Given the description of an element on the screen output the (x, y) to click on. 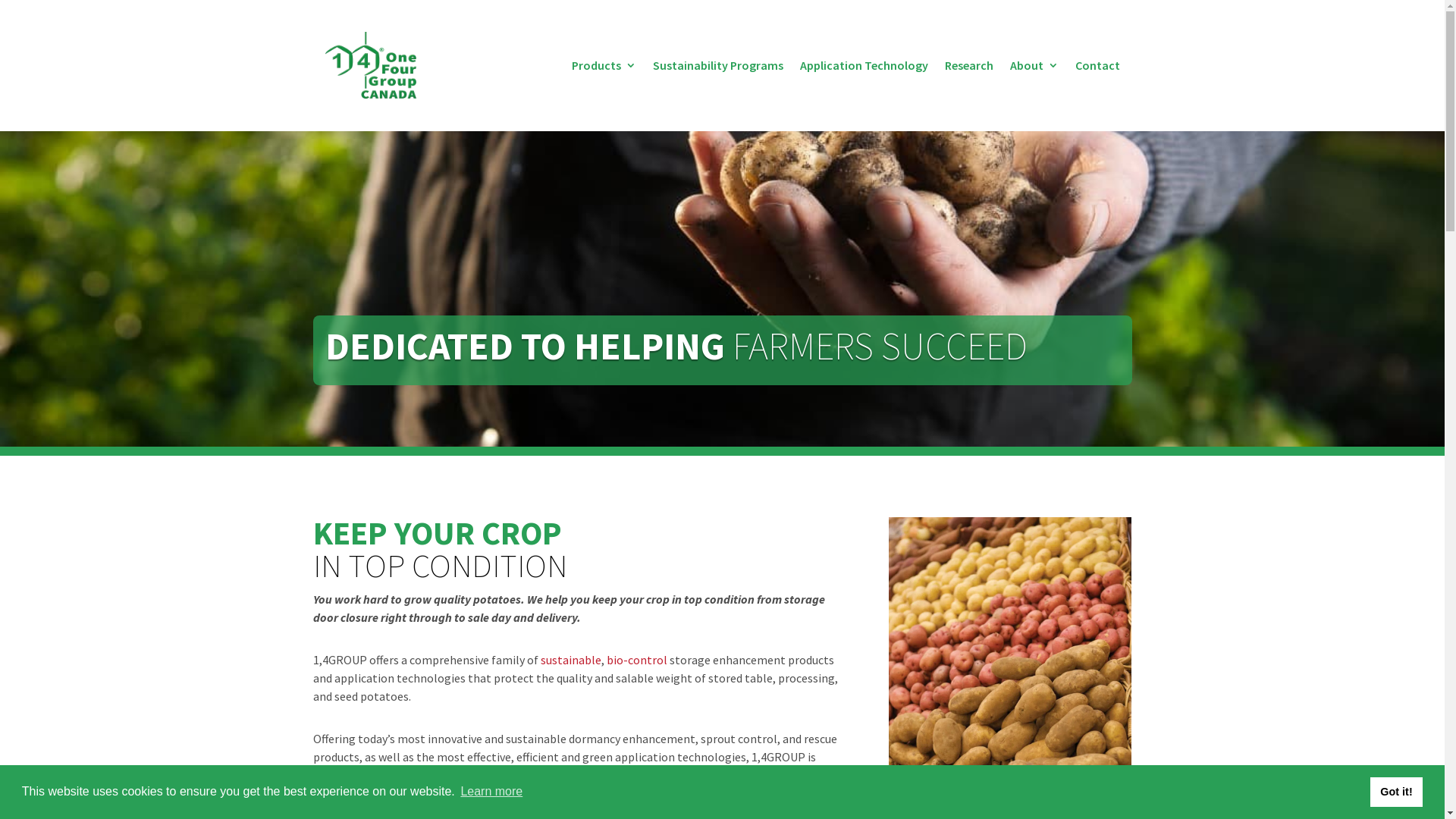
Sustainability Programs Element type: text (717, 64)
Contact Element type: text (1097, 64)
Learn more Element type: text (491, 791)
Got it! Element type: text (1396, 791)
Research Element type: text (968, 64)
potatoes Element type: hover (1009, 781)
About Element type: text (1034, 64)
Products Element type: text (603, 64)
Application Technology Element type: text (863, 64)
